Given the description of an element on the screen output the (x, y) to click on. 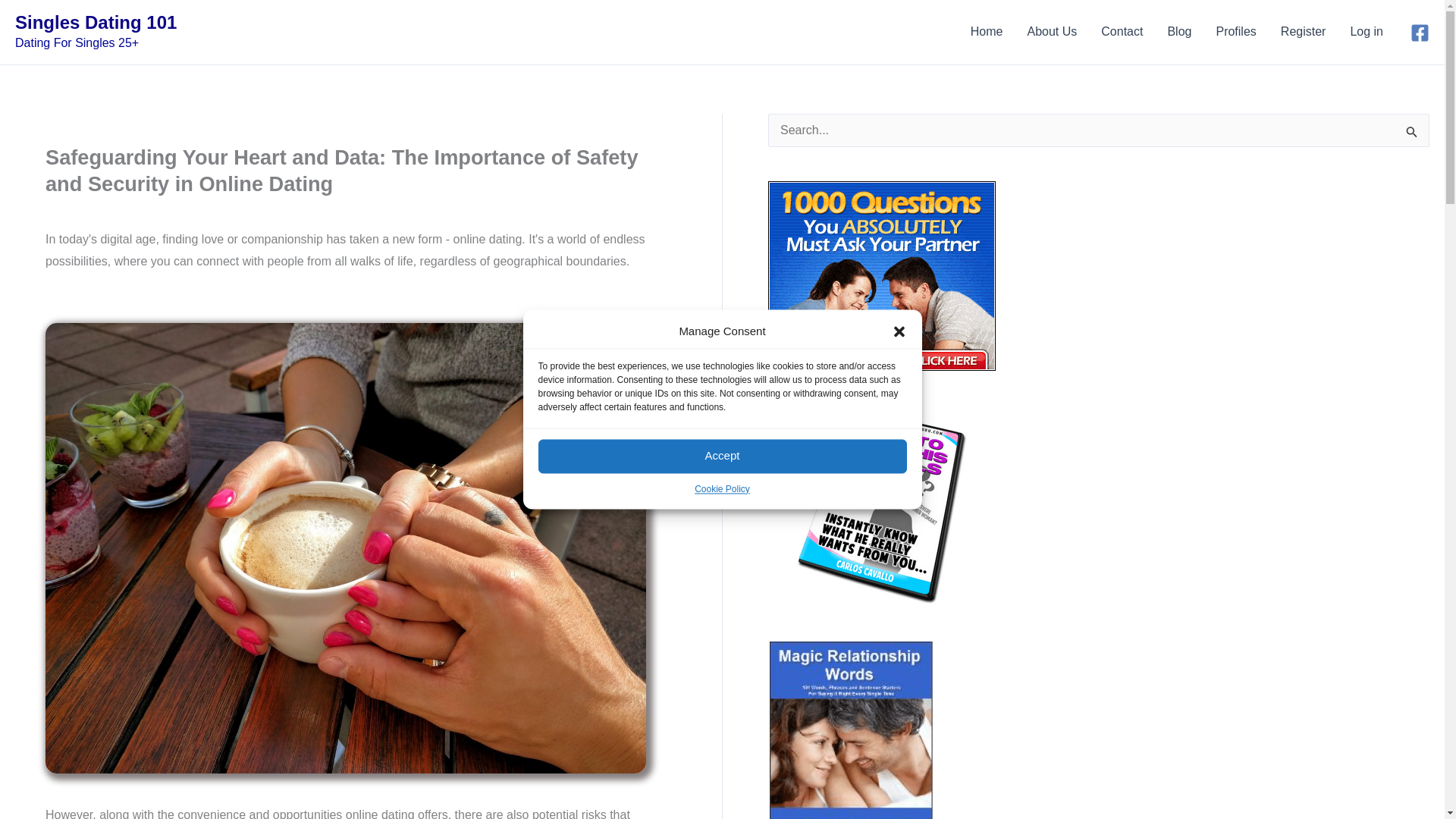
Accept (722, 455)
Contact (1121, 31)
Cookie Policy (721, 488)
Home (986, 31)
Profiles (1236, 31)
About Us (1051, 31)
Register (1303, 31)
Singles Dating 101 (95, 22)
Log in (1366, 31)
